Given the description of an element on the screen output the (x, y) to click on. 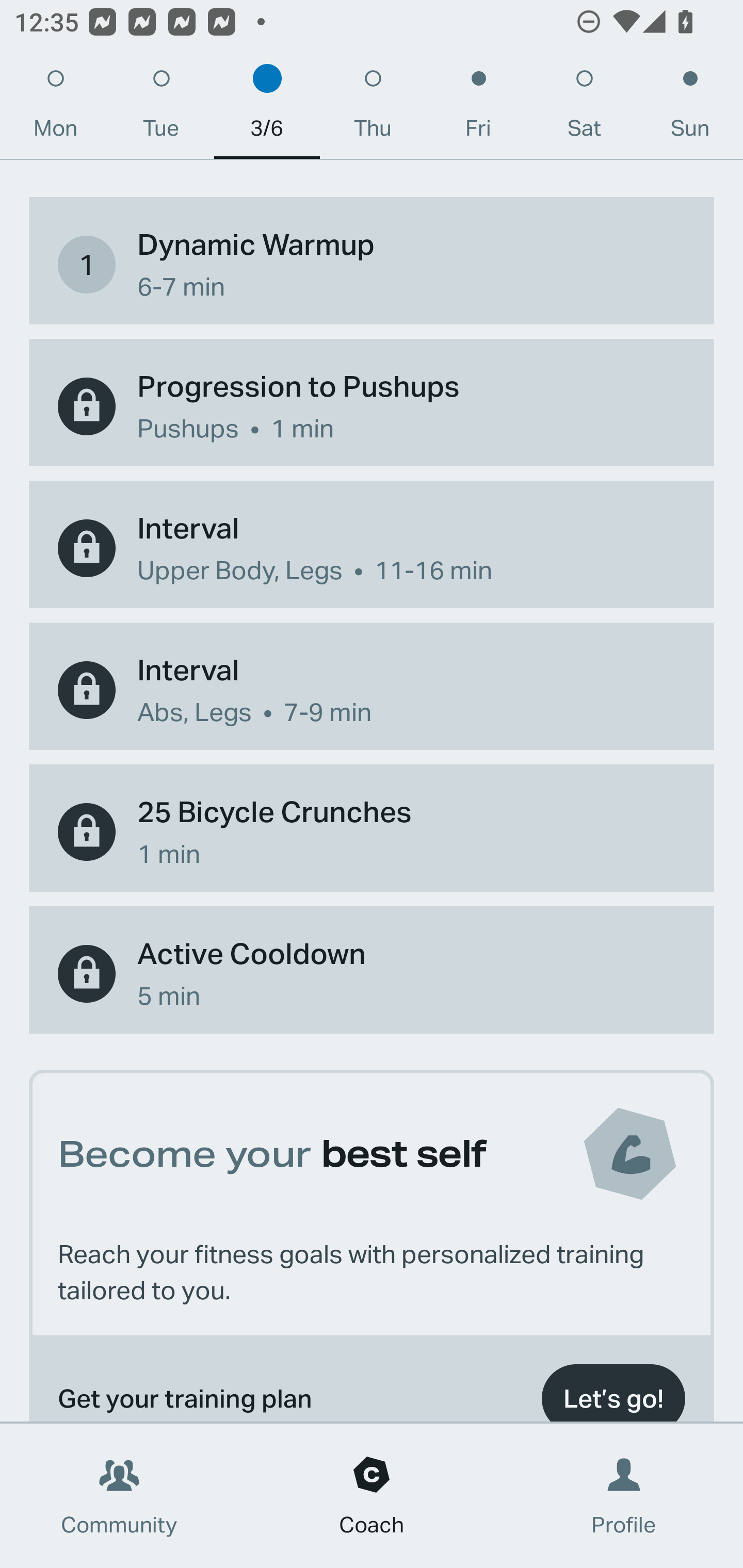
Mon (55, 108)
Tue (160, 108)
3/6 (266, 108)
Thu (372, 108)
Fri (478, 108)
Sat (584, 108)
Sun (690, 108)
1 Dynamic Warmup 6-7 min (371, 264)
Progression to Pushups Pushups  •  1 min (371, 406)
Interval Upper Body, Legs  •  11-16 min (371, 547)
Interval Abs, Legs  •  7-9 min (371, 689)
25 Bicycle Crunches 1 min (371, 831)
Active Cooldown 5 min (371, 973)
Let’s go! (613, 1388)
Community (119, 1495)
Profile (624, 1495)
